Given the description of an element on the screen output the (x, y) to click on. 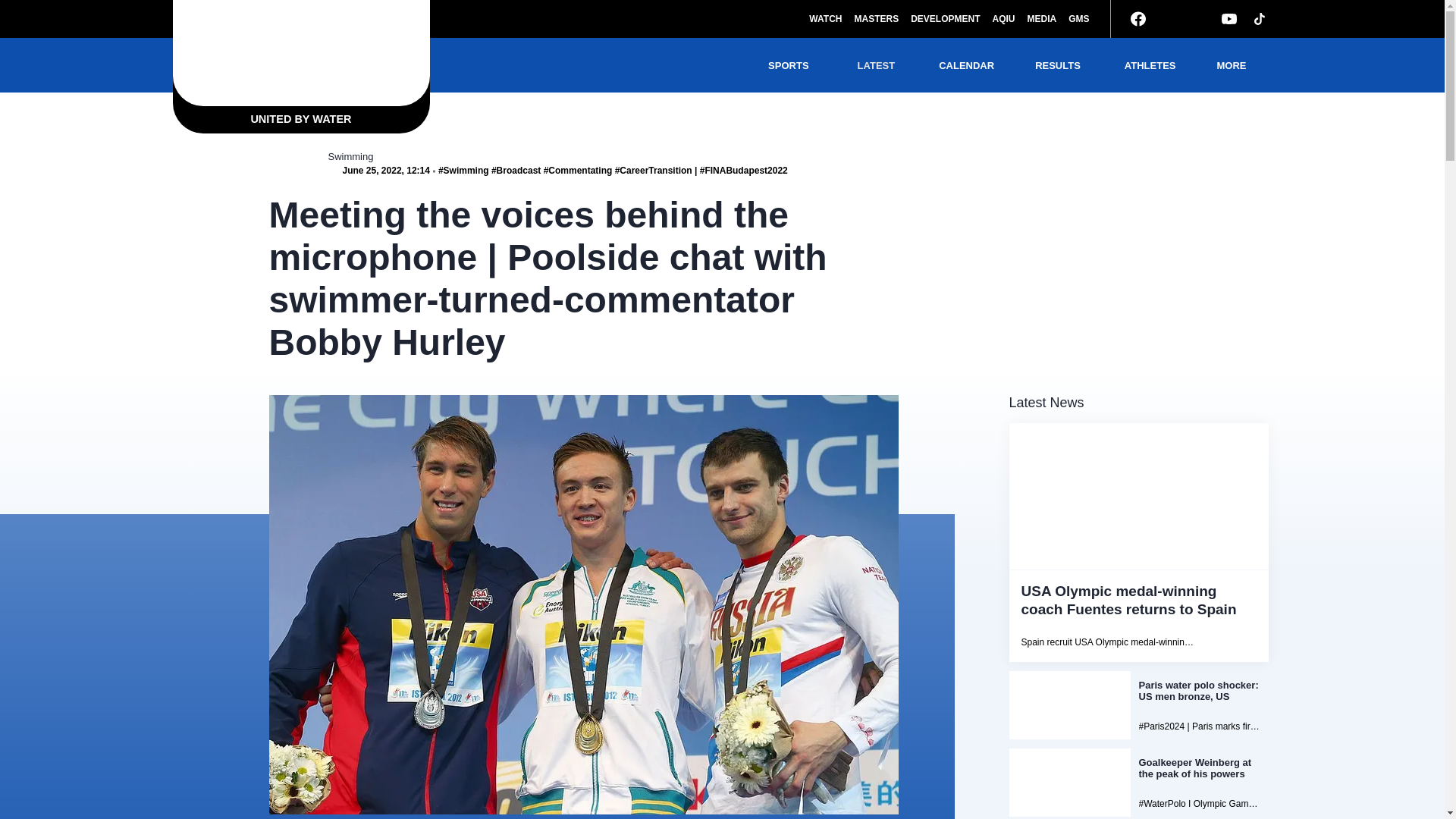
RESULTS (1058, 64)
MORE (1232, 64)
AQIU (1002, 18)
CALENDAR (965, 64)
MEDIA (1041, 18)
Goalkeeper Weinberg at the peak of his powers (1138, 782)
SPORTS (789, 64)
MASTERS (875, 18)
LATEST (877, 64)
Home (301, 53)
